Given the description of an element on the screen output the (x, y) to click on. 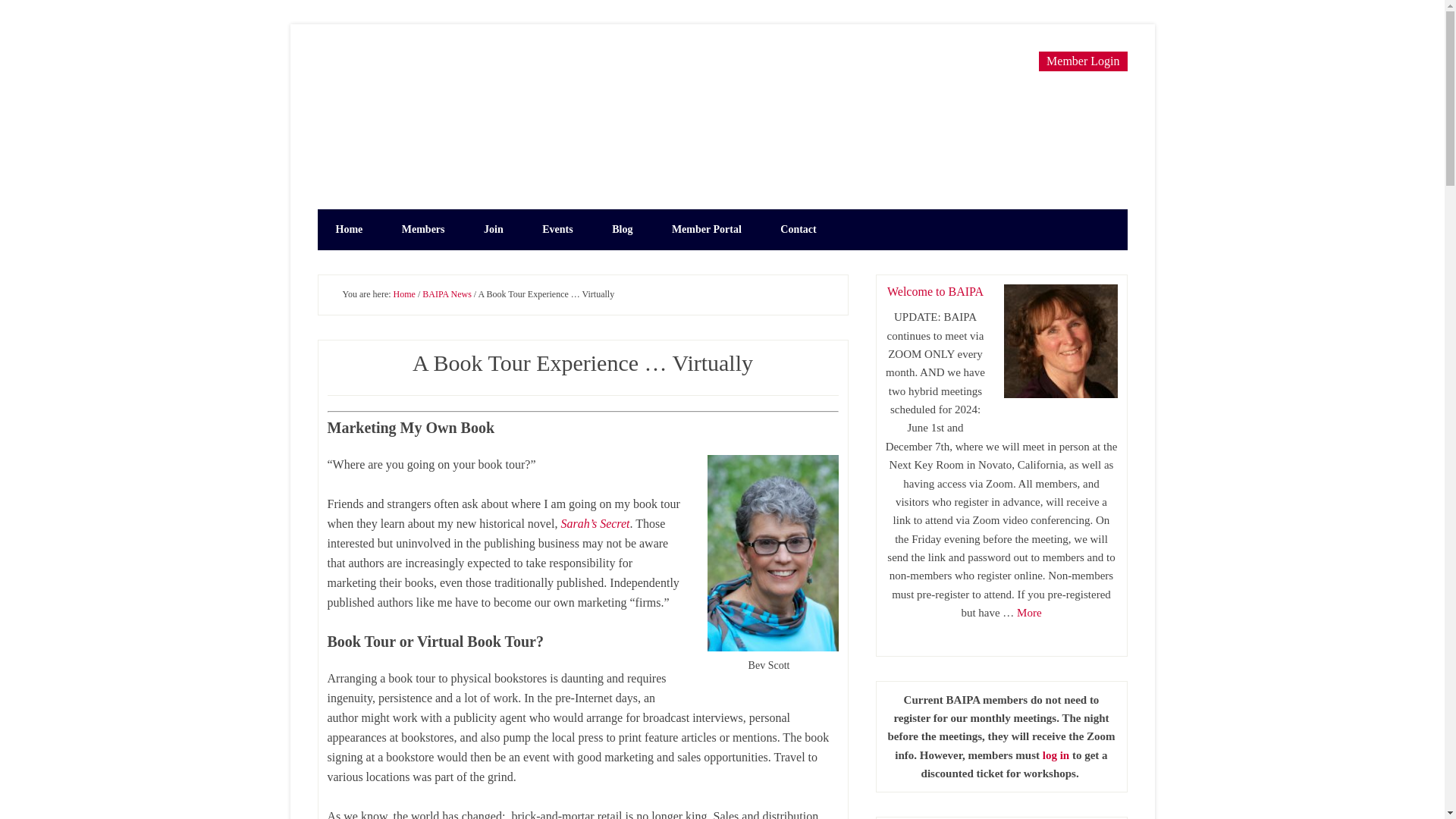
Members (423, 229)
Member Login (1082, 60)
BAIPA News (446, 294)
Events (557, 229)
Member Portal (706, 229)
Join (493, 229)
Home (348, 229)
Contact (797, 229)
Blog (622, 229)
Home (403, 294)
